Given the description of an element on the screen output the (x, y) to click on. 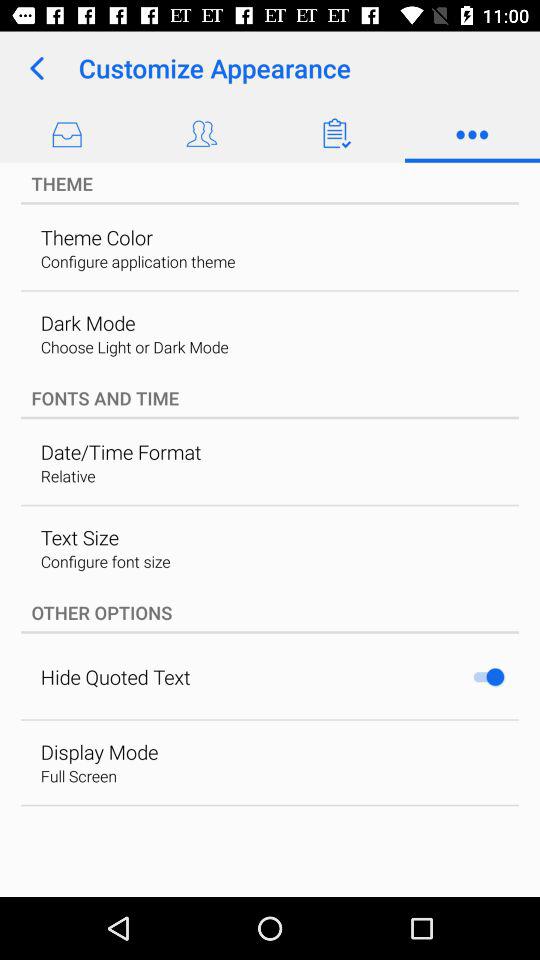
flip until theme color item (96, 237)
